Given the description of an element on the screen output the (x, y) to click on. 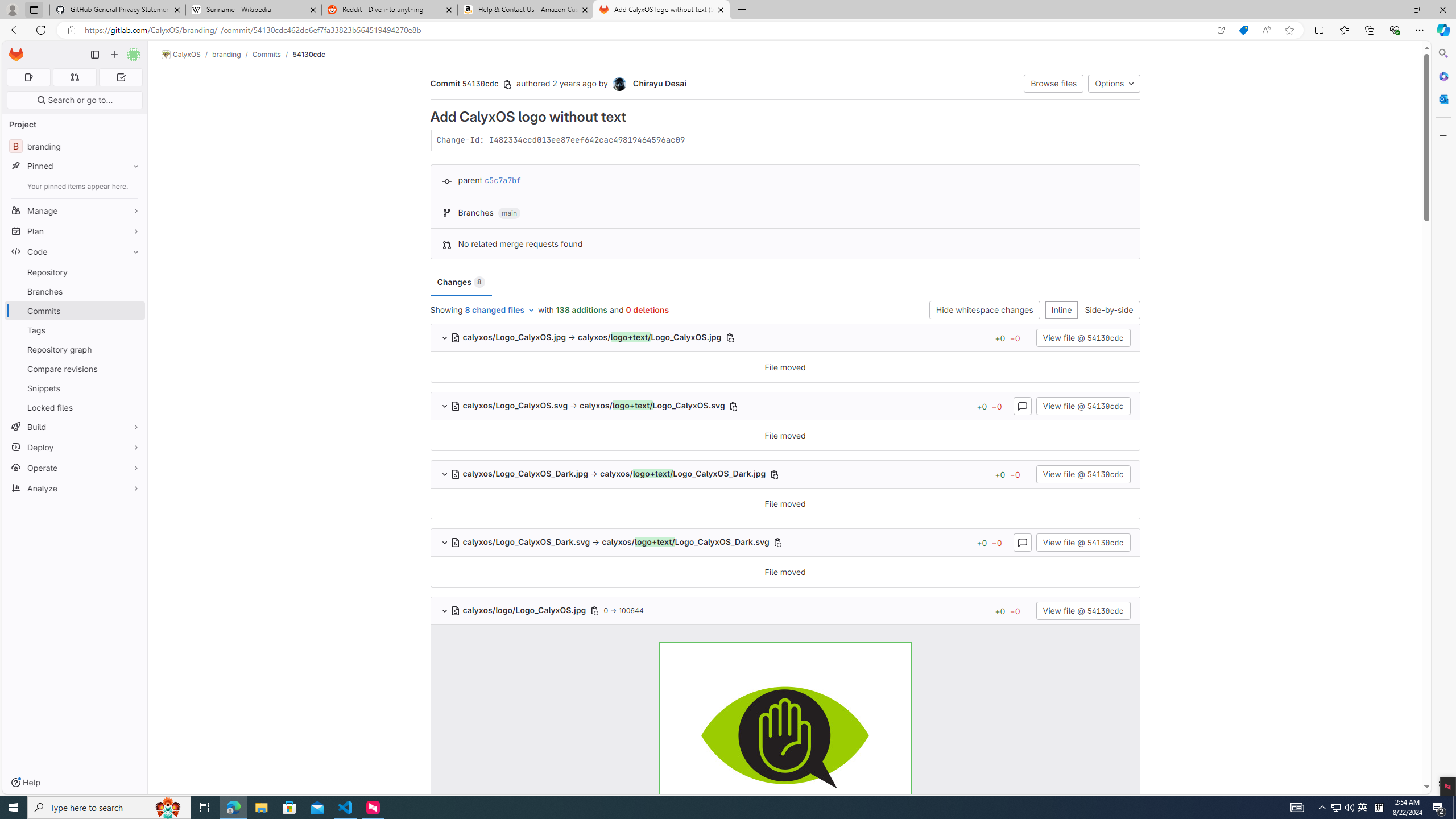
To-Do list 0 (120, 76)
Branches (74, 290)
Pinned (74, 165)
Commits (266, 53)
Pin Branches (132, 291)
Repository (74, 271)
Pin Locked files (132, 407)
main (509, 213)
Build (74, 426)
